Given the description of an element on the screen output the (x, y) to click on. 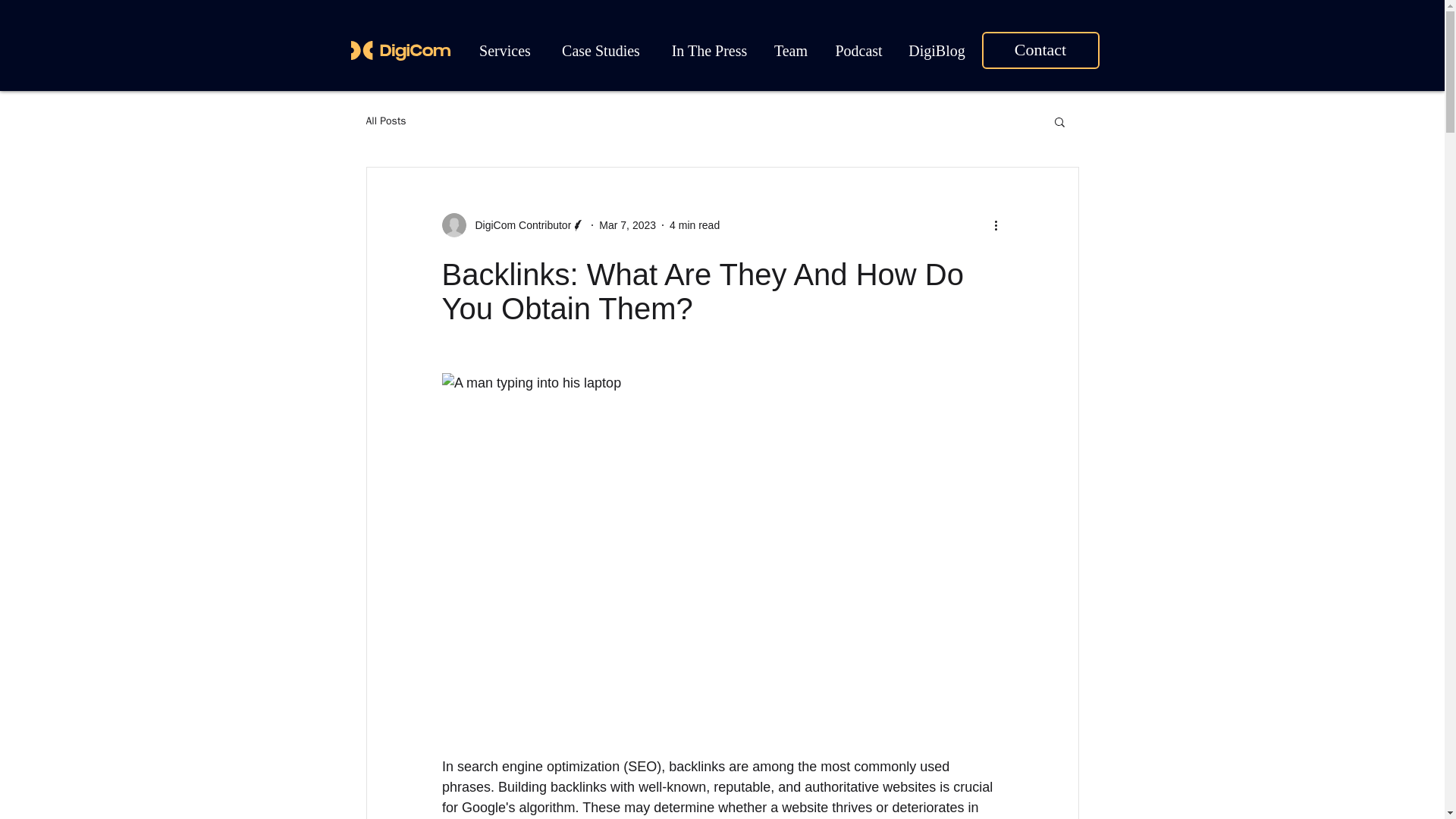
Podcast (859, 50)
Contact (1040, 49)
DigiCom Contributor (513, 224)
Case Studies (600, 50)
Team (790, 50)
Mar 7, 2023 (627, 224)
4 min read (694, 224)
DigiCom Contributor (517, 224)
DigiBlog (937, 50)
In The Press (708, 50)
